Given the description of an element on the screen output the (x, y) to click on. 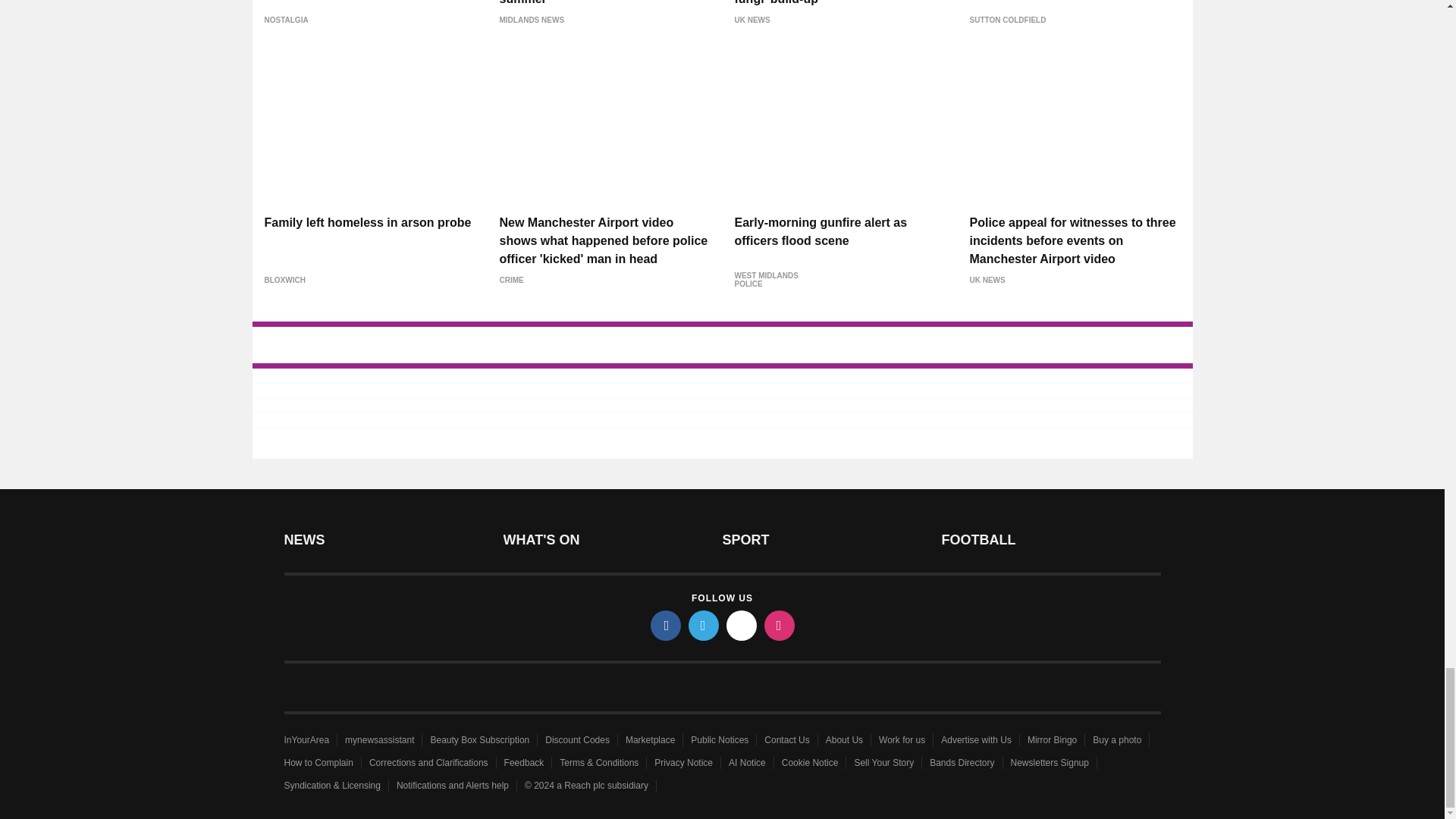
instagram (779, 625)
tiktok (741, 625)
facebook (665, 625)
twitter (703, 625)
